Given the description of an element on the screen output the (x, y) to click on. 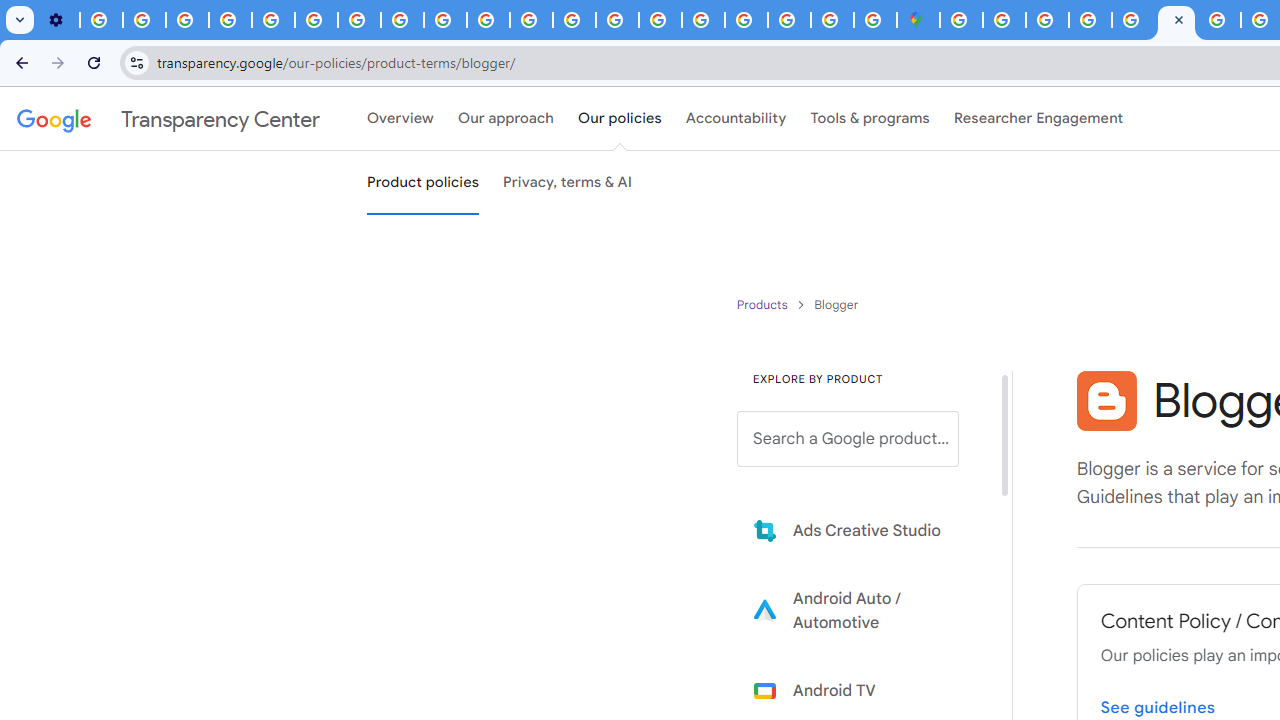
Researcher Engagement (1038, 119)
https://scholar.google.com/ (530, 20)
Search a Google product from below list. (847, 439)
Privacy, terms & AI (568, 183)
Blogger (1106, 400)
Learn how to find your photos - Google Photos Help (144, 20)
